Given the description of an element on the screen output the (x, y) to click on. 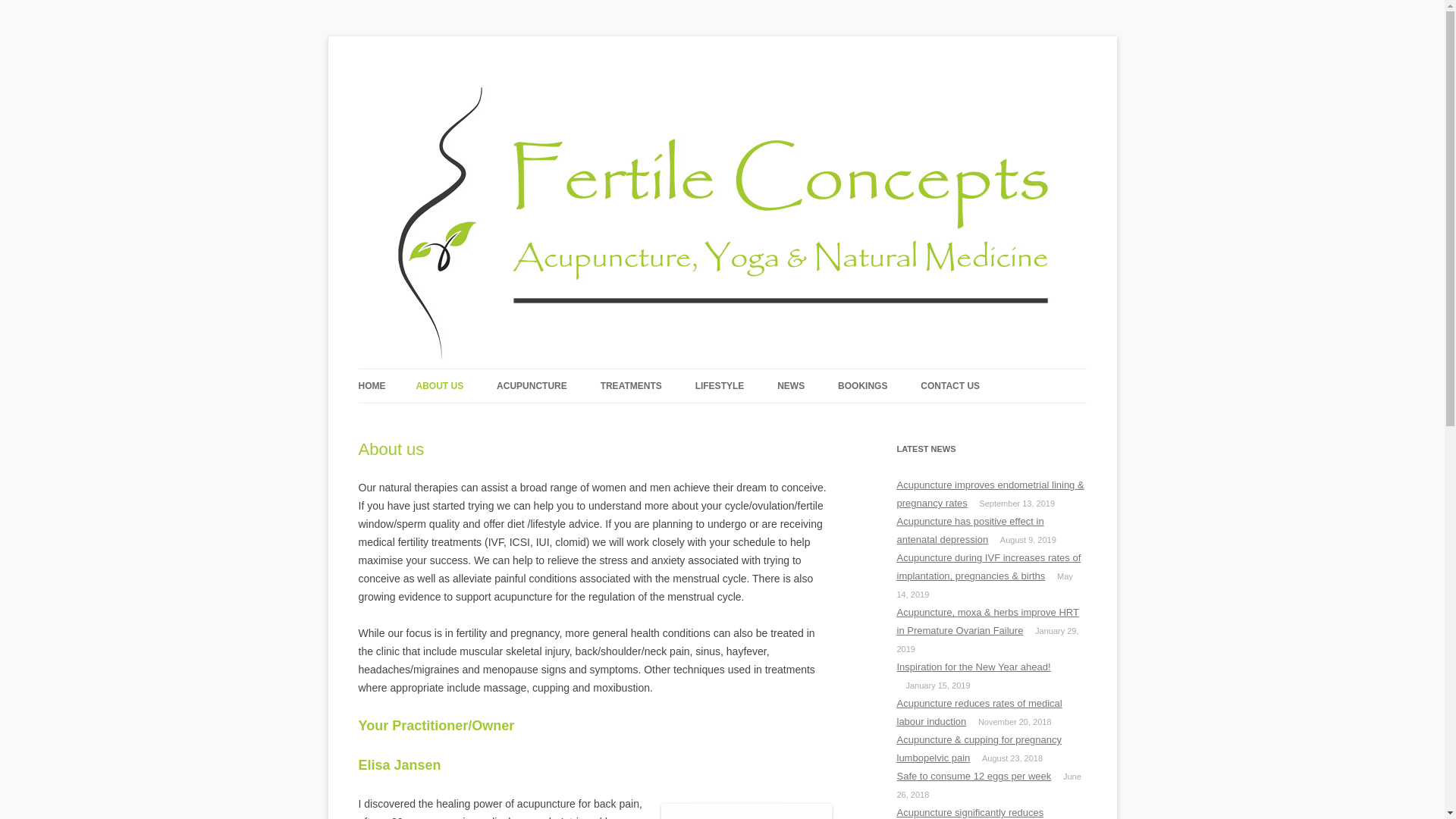
LIFESTYLE Element type: text (719, 385)
Safe to consume 12 eggs per week Element type: text (973, 775)
Fertile Concepts Element type: text (393, 63)
Acupuncture reduces rates of medical labour induction Element type: text (978, 712)
TRADITIONAL PERSPECTIVE Element type: text (572, 417)
ACUPUNCTURE Element type: text (531, 385)
Acupuncture improves endometrial lining & pregnancy rates Element type: text (989, 493)
Skip to content Element type: text (721, 368)
ABOUT US Element type: text (439, 385)
CONTACT US Element type: text (949, 385)
BOOKINGS Element type: text (862, 385)
HOME Element type: text (371, 385)
Inspiration for the New Year ahead! Element type: text (973, 666)
PREPARING FOR A BABY Element type: text (676, 417)
Acupuncture has positive effect in antenatal depression Element type: text (969, 530)
NEWS Element type: text (790, 385)
TREATMENTS Element type: text (631, 385)
Acupuncture & cupping for pregnancy lumbopelvic pain Element type: text (978, 748)
